Given the description of an element on the screen output the (x, y) to click on. 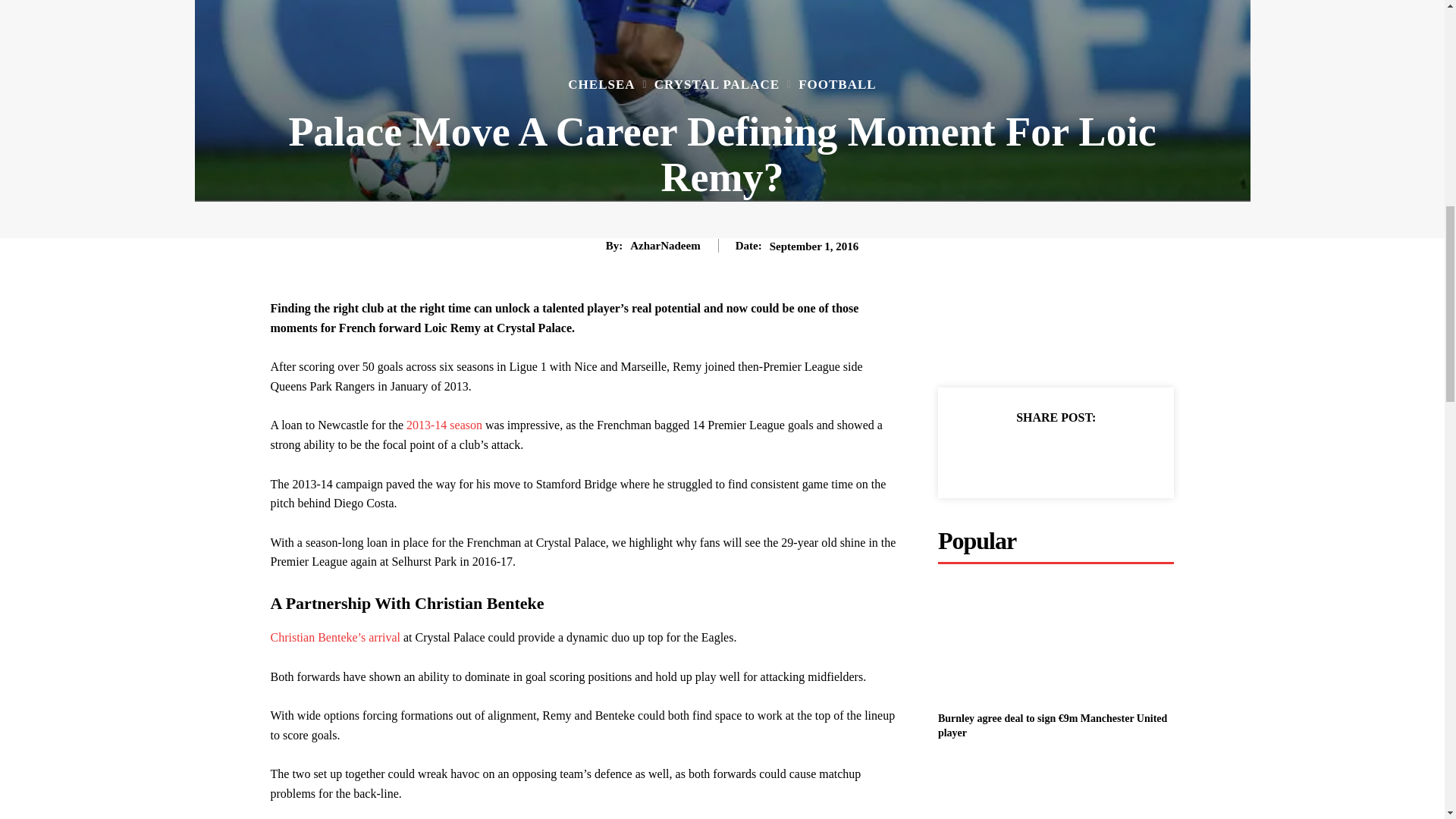
2013-14 season (445, 424)
FOOTBALL (836, 83)
AzharNadeem (595, 245)
AzharNadeem (665, 245)
CHELSEA (600, 83)
CRYSTAL PALACE (715, 83)
